Given the description of an element on the screen output the (x, y) to click on. 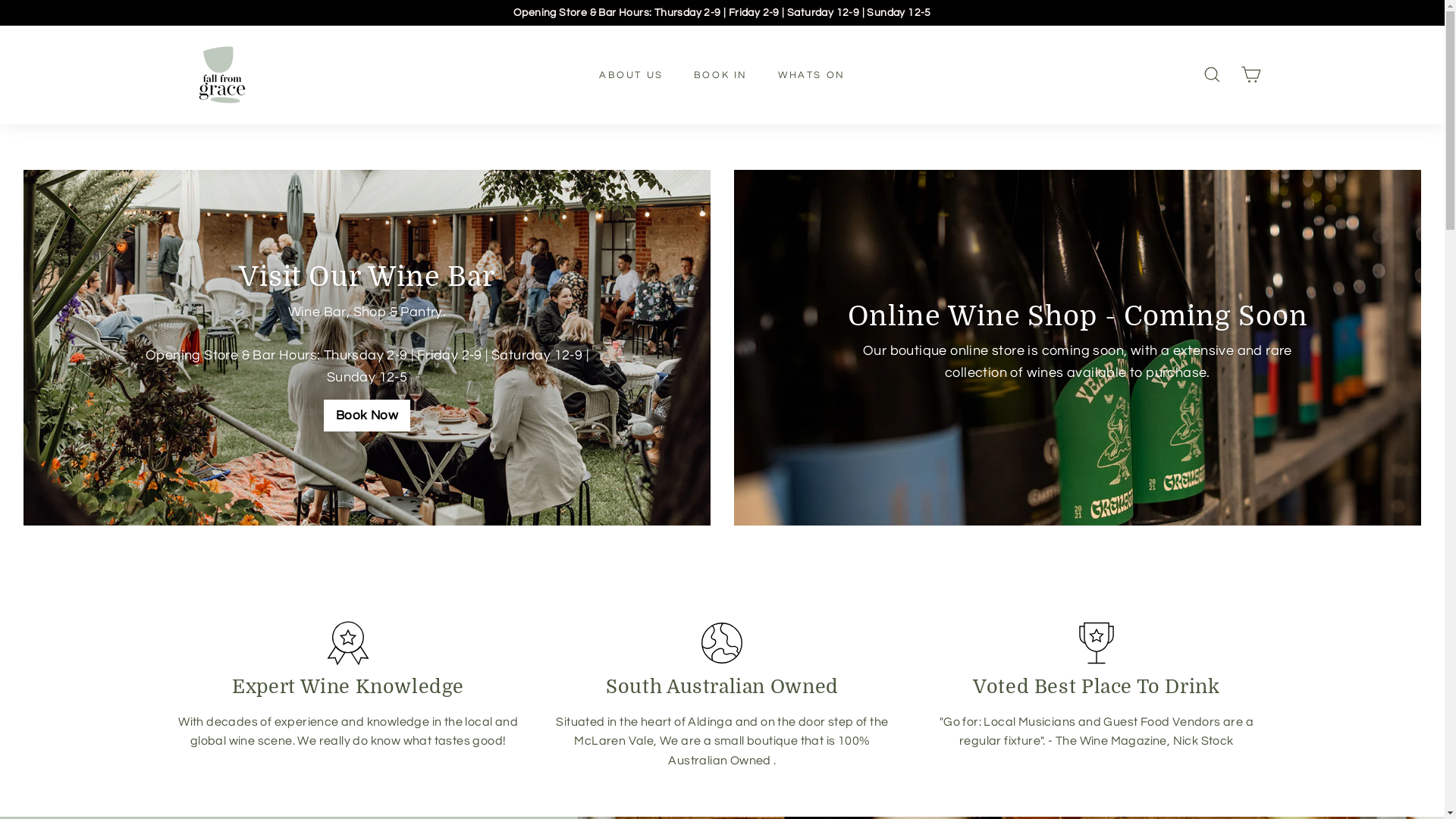
BOOK IN Element type: text (720, 75)
ABOUT US Element type: text (630, 75)
Book Now Element type: text (366, 415)
WHATS ON Element type: text (811, 75)
SEARCH Element type: text (1211, 74)
CART Element type: text (1250, 74)
